Given the description of an element on the screen output the (x, y) to click on. 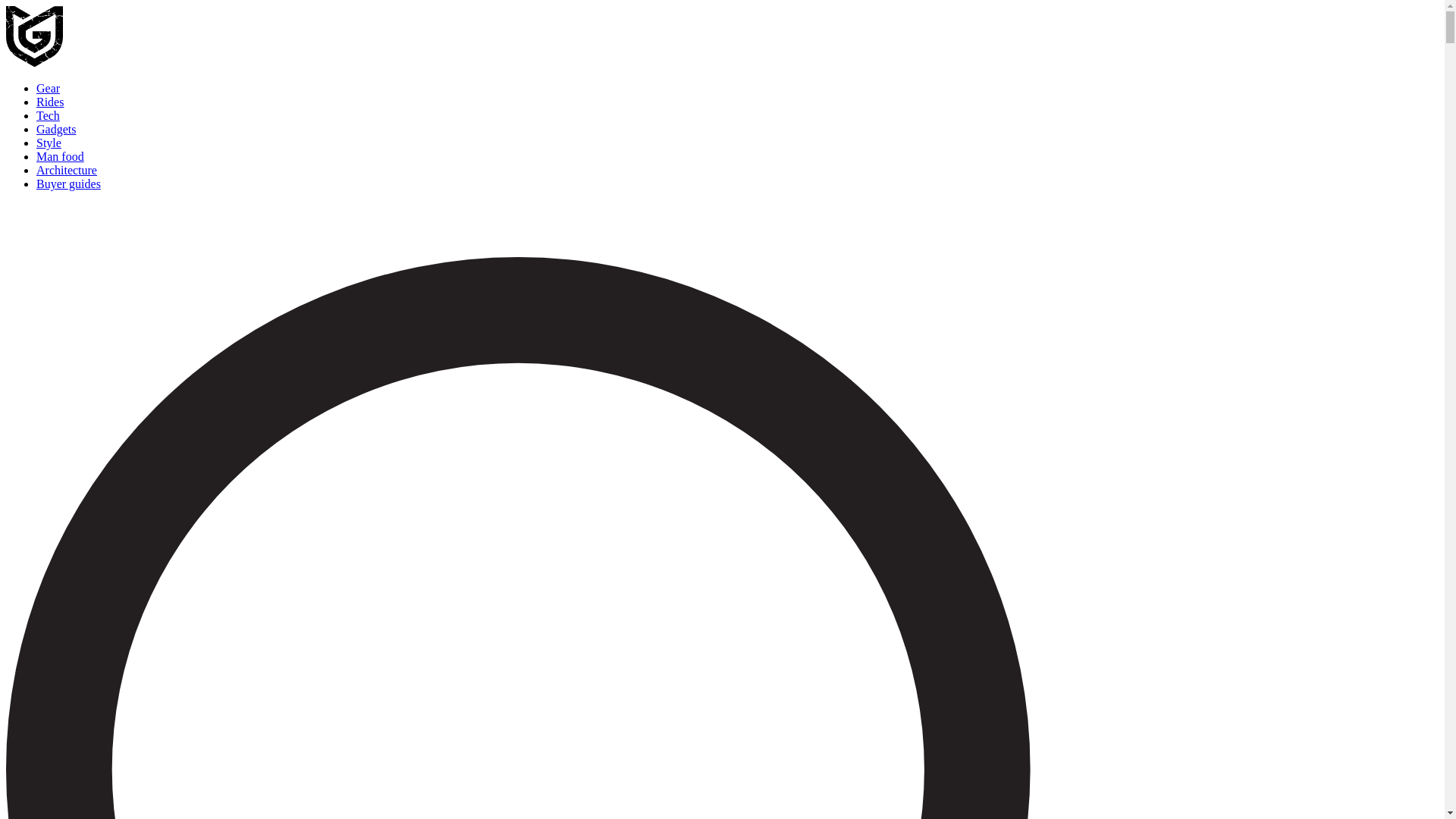
Rides (50, 101)
Tech (47, 115)
Style (48, 142)
Architecture (66, 169)
Man food (60, 155)
Gear (47, 88)
Gadgets (55, 128)
Buyer guides (68, 183)
